Given the description of an element on the screen output the (x, y) to click on. 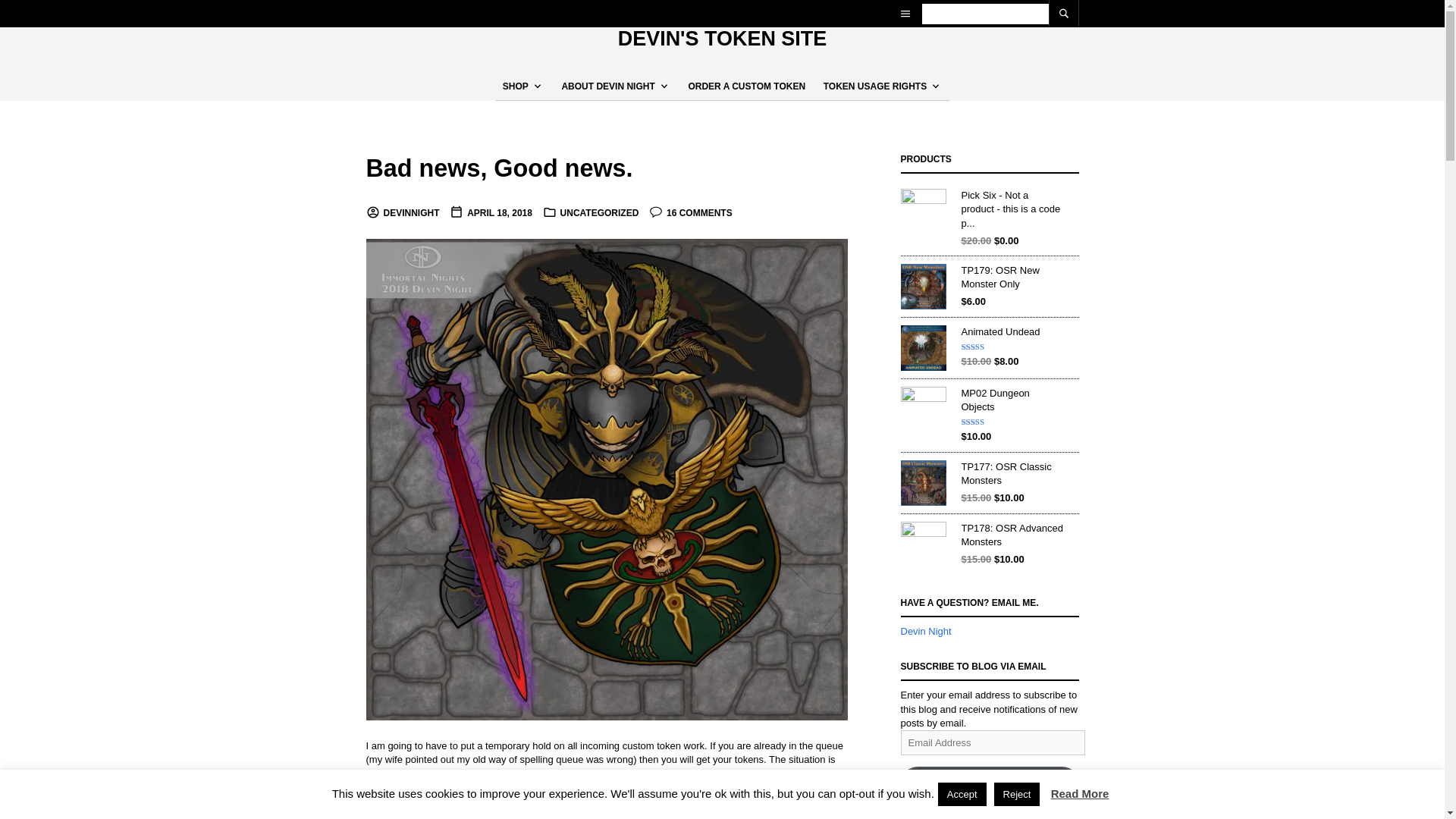
ABOUT DEVIN NIGHT (611, 86)
ORDER A CUSTOM TOKEN (745, 86)
View all posts by devinnight (402, 213)
SHOP (519, 86)
APRIL 18, 2018 (490, 213)
UNCATEGORIZED (599, 213)
TOKEN USAGE RIGHTS (878, 86)
11:02 pm (490, 213)
Bad news, Good news. (498, 167)
DEVINNIGHT (402, 213)
